Given the description of an element on the screen output the (x, y) to click on. 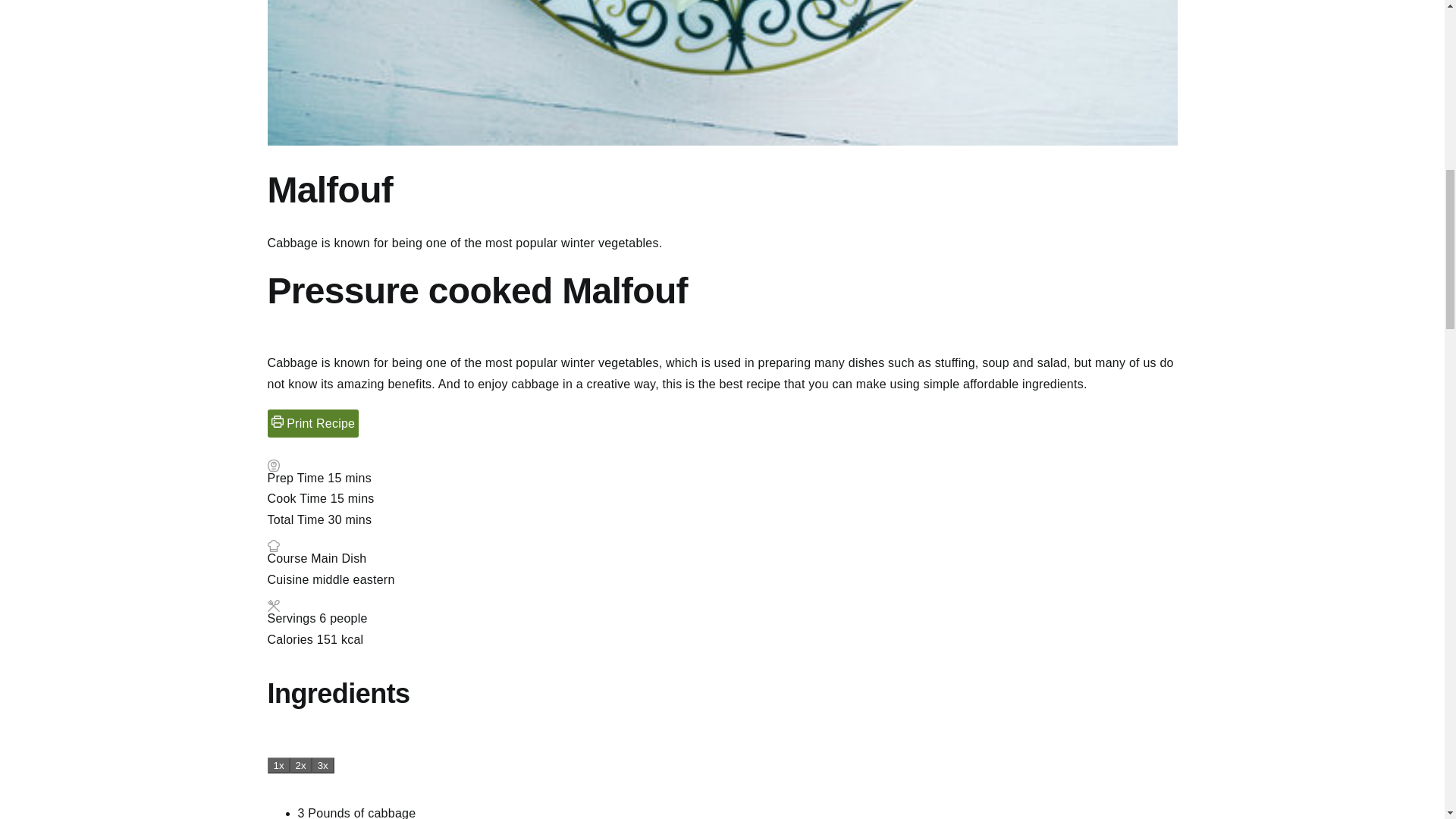
View Larger Image (721, 72)
1x (277, 765)
2x (301, 765)
Print Recipe (312, 423)
3x (323, 765)
